Given the description of an element on the screen output the (x, y) to click on. 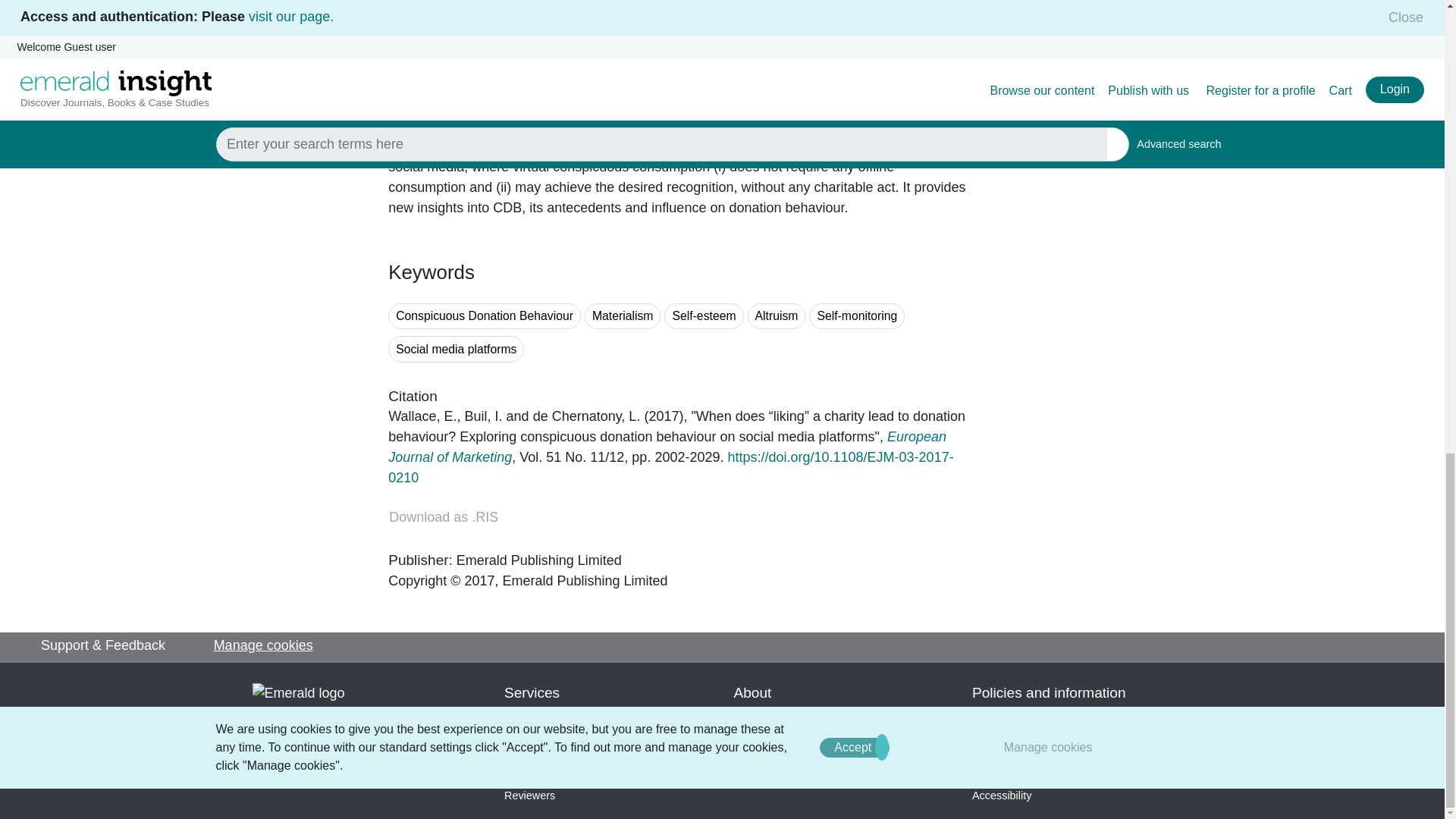
Elaine Wallace (422, 416)
Search for keyword Conspicuous Donation Behaviour (484, 316)
Leslie de Chernatony (586, 416)
Search for keyword Materialism (623, 316)
Isabel Buil (483, 416)
Search for keyword Social media platforms (456, 348)
Search for keyword Self-esteem (702, 316)
Search for keyword Altruism (777, 316)
Search for keyword Self-monitoring (856, 316)
